Given the description of an element on the screen output the (x, y) to click on. 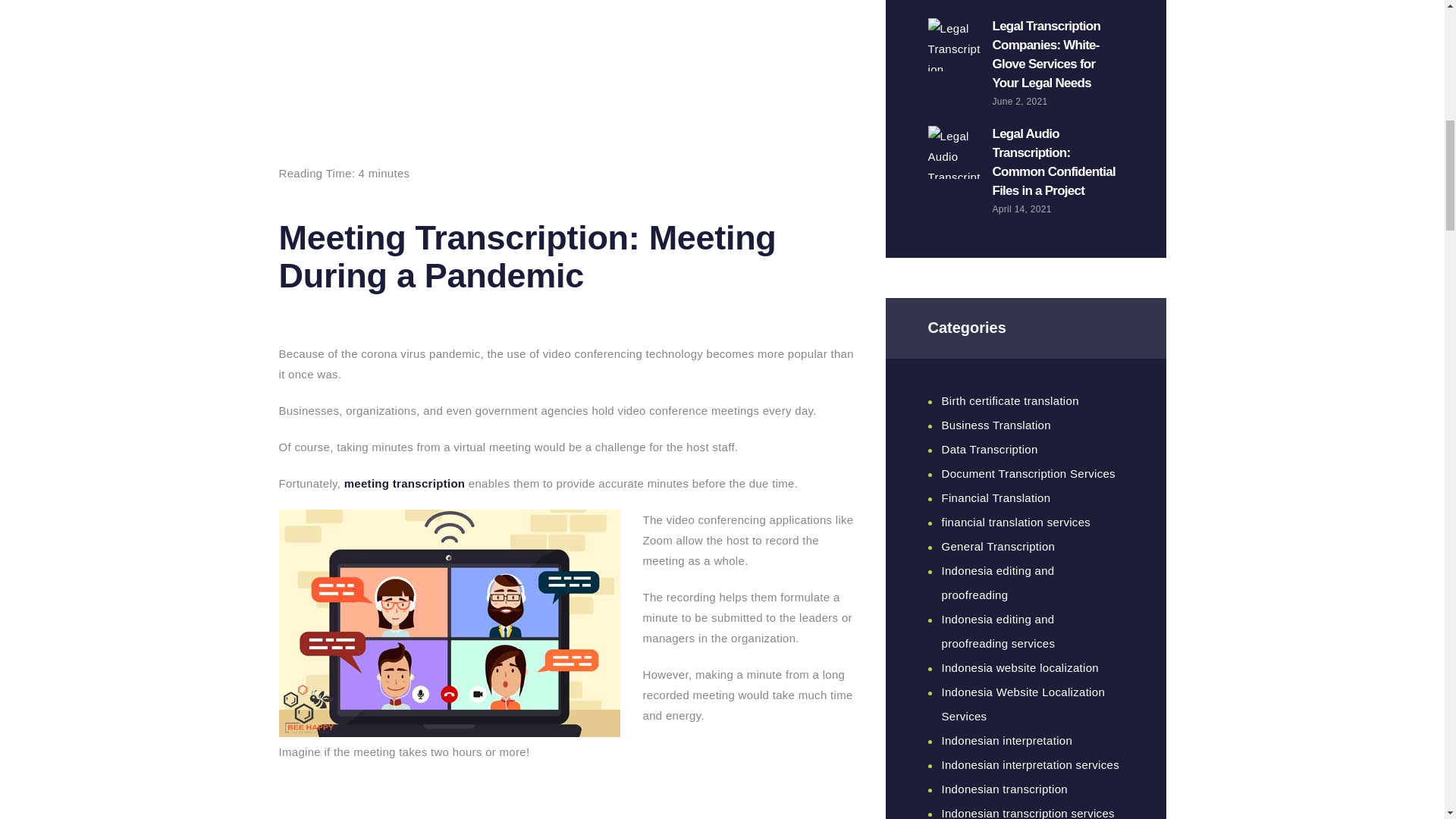
meeting transcription (404, 482)
